Given the description of an element on the screen output the (x, y) to click on. 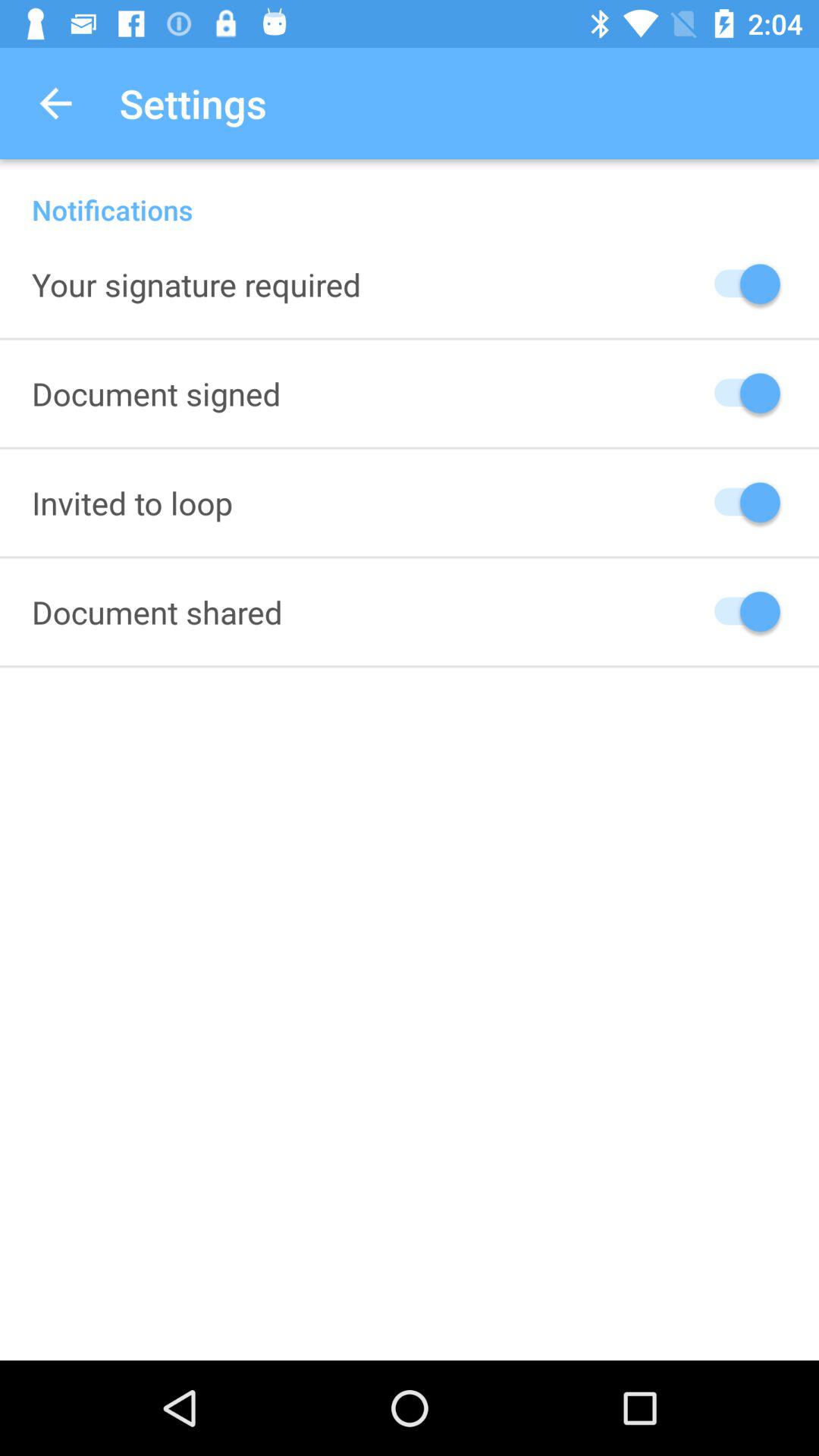
flip to the your signature required icon (196, 283)
